Given the description of an element on the screen output the (x, y) to click on. 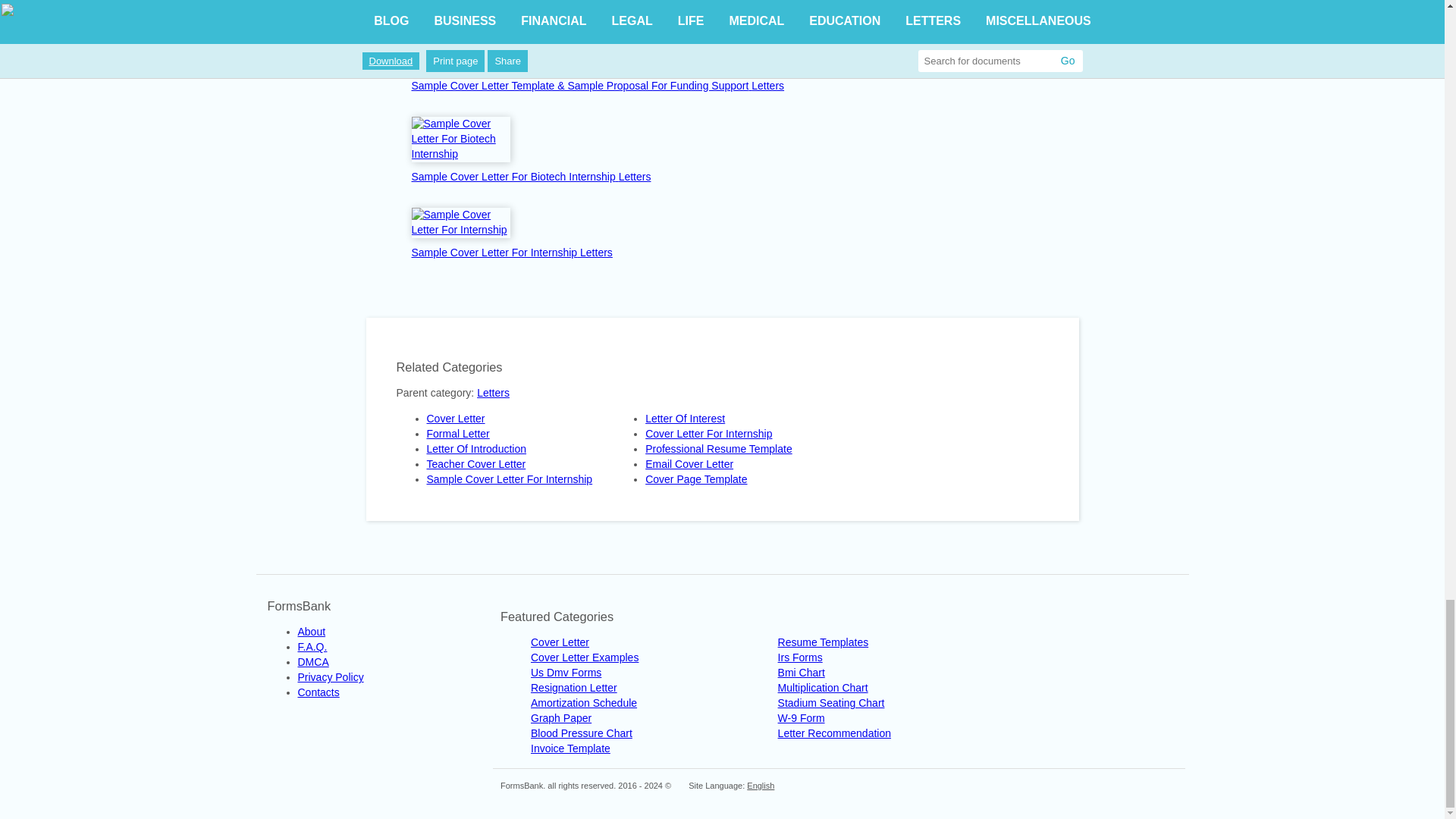
Sample Cover Letter For Biotech Internship (513, 176)
Letters (634, 176)
Letters (767, 85)
Letters (595, 252)
Sample Cover Letter For Internship (494, 252)
